Given the description of an element on the screen output the (x, y) to click on. 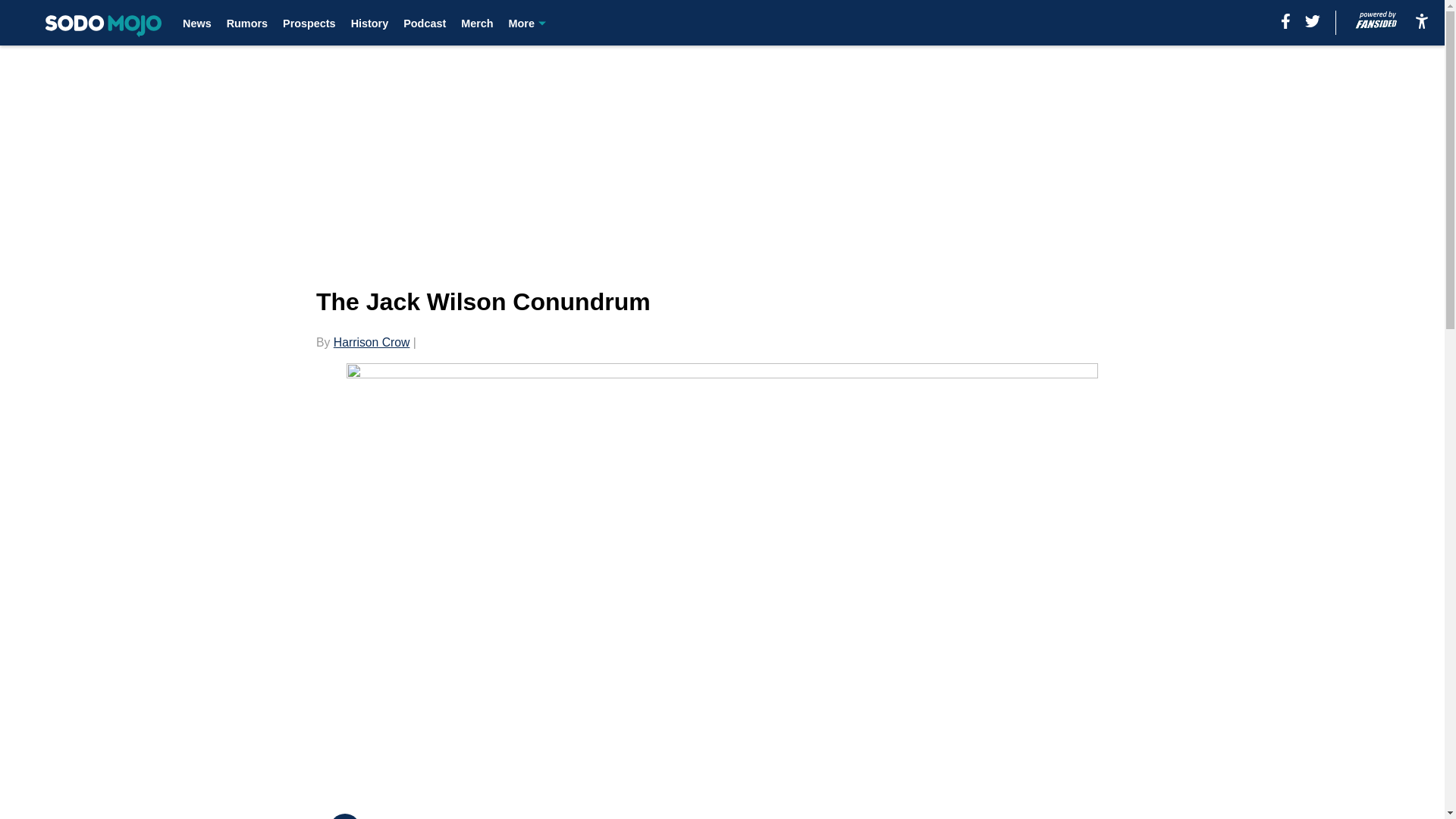
Podcast (424, 23)
Harrison Crow (371, 341)
Prospects (309, 23)
Rumors (247, 23)
Merch (477, 23)
History (369, 23)
News (197, 23)
